Given the description of an element on the screen output the (x, y) to click on. 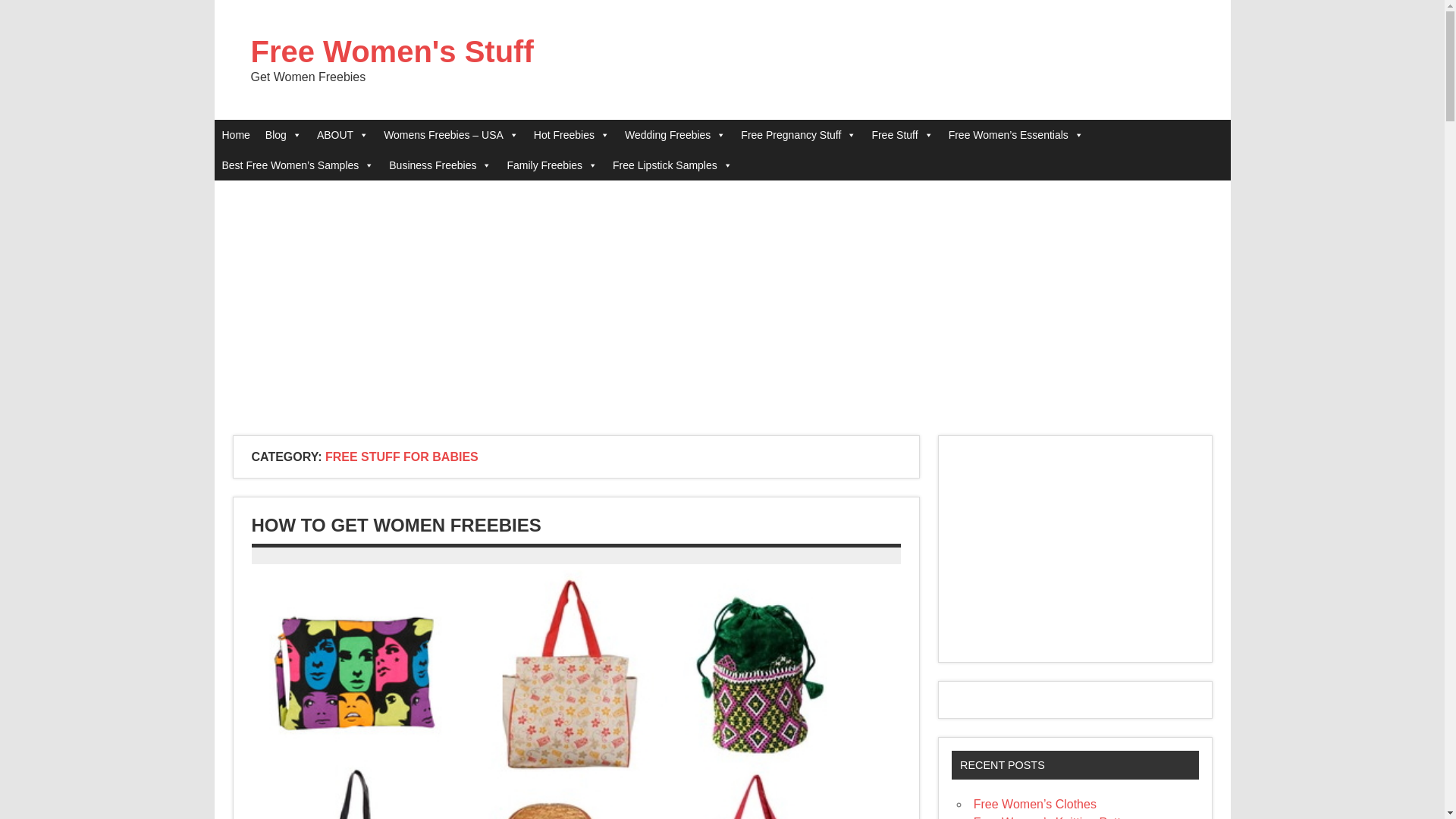
Blog (282, 134)
Advertisement (1074, 548)
ABOUT (341, 134)
Free Women's Stuff (391, 51)
Home (235, 134)
